Given the description of an element on the screen output the (x, y) to click on. 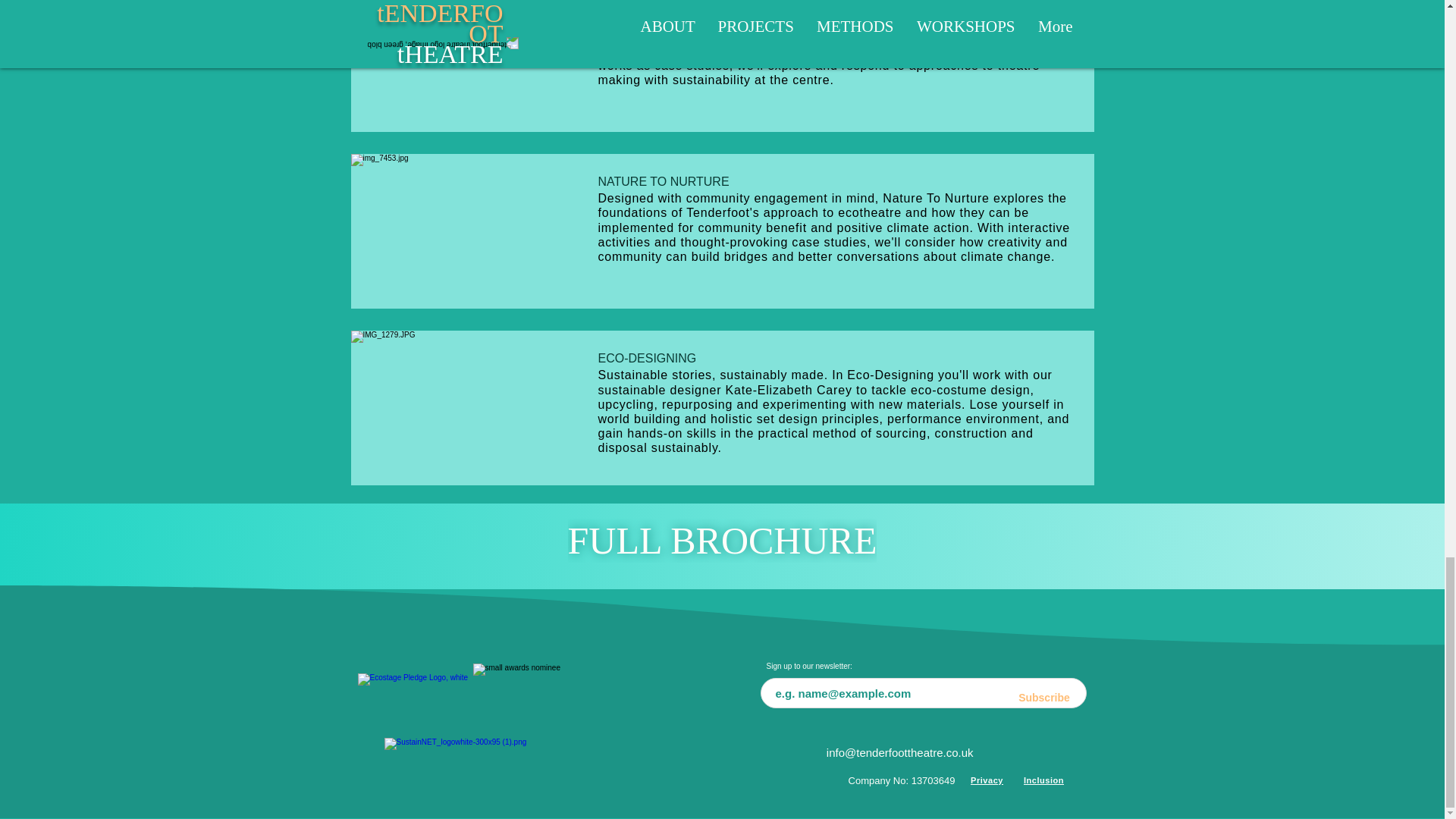
Subscribe (1044, 697)
FULL BROCHURE (721, 540)
A822ABFB-4A29-49EF-A5DA-4A66C4A088FD.png (534, 698)
Inclusion (1043, 779)
Privacy (985, 780)
